Given the description of an element on the screen output the (x, y) to click on. 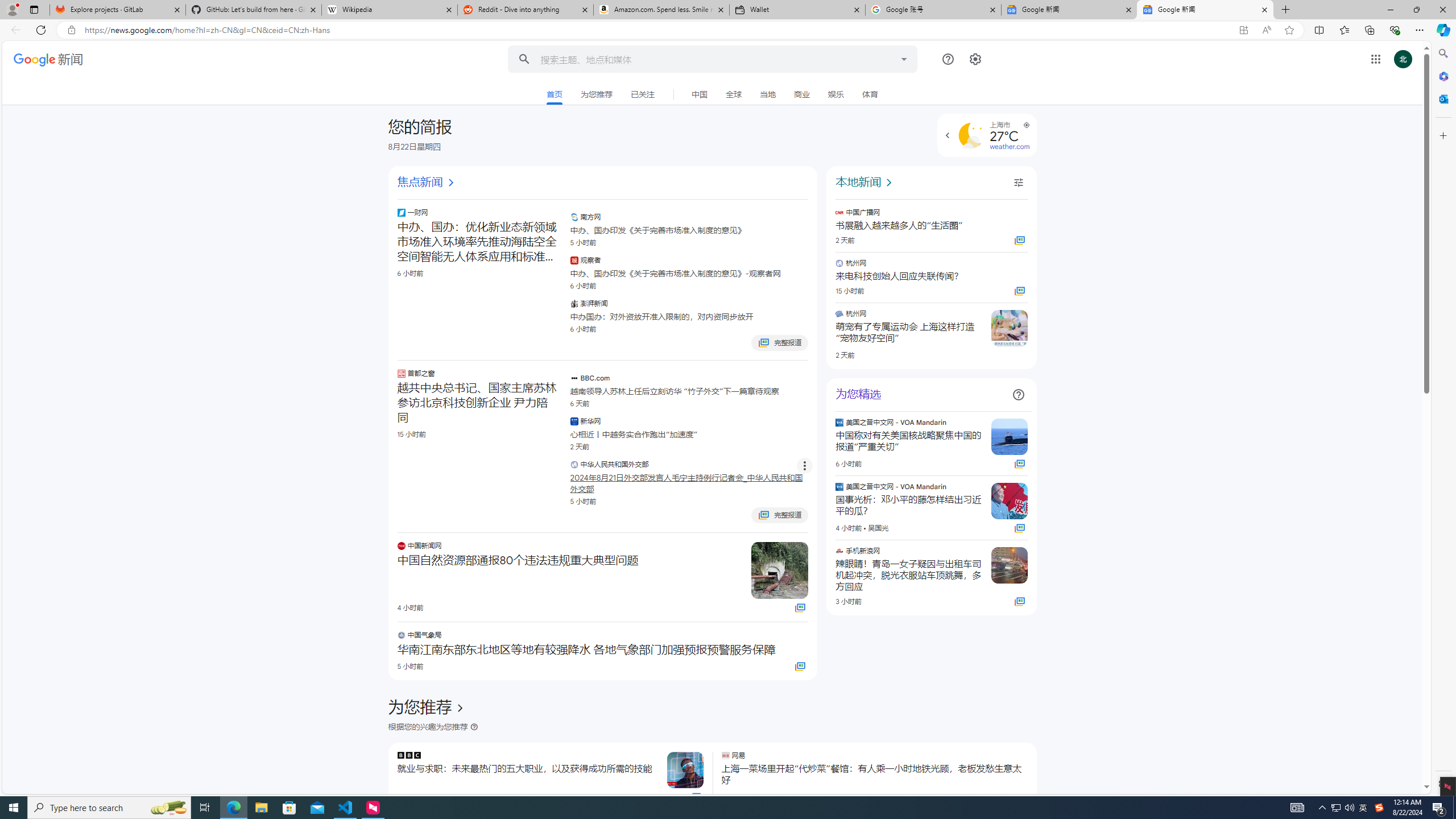
Class: gb_E (1375, 59)
weather.com (1009, 146)
Amazon.com. Spend less. Smile more. (660, 9)
